Given the description of an element on the screen output the (x, y) to click on. 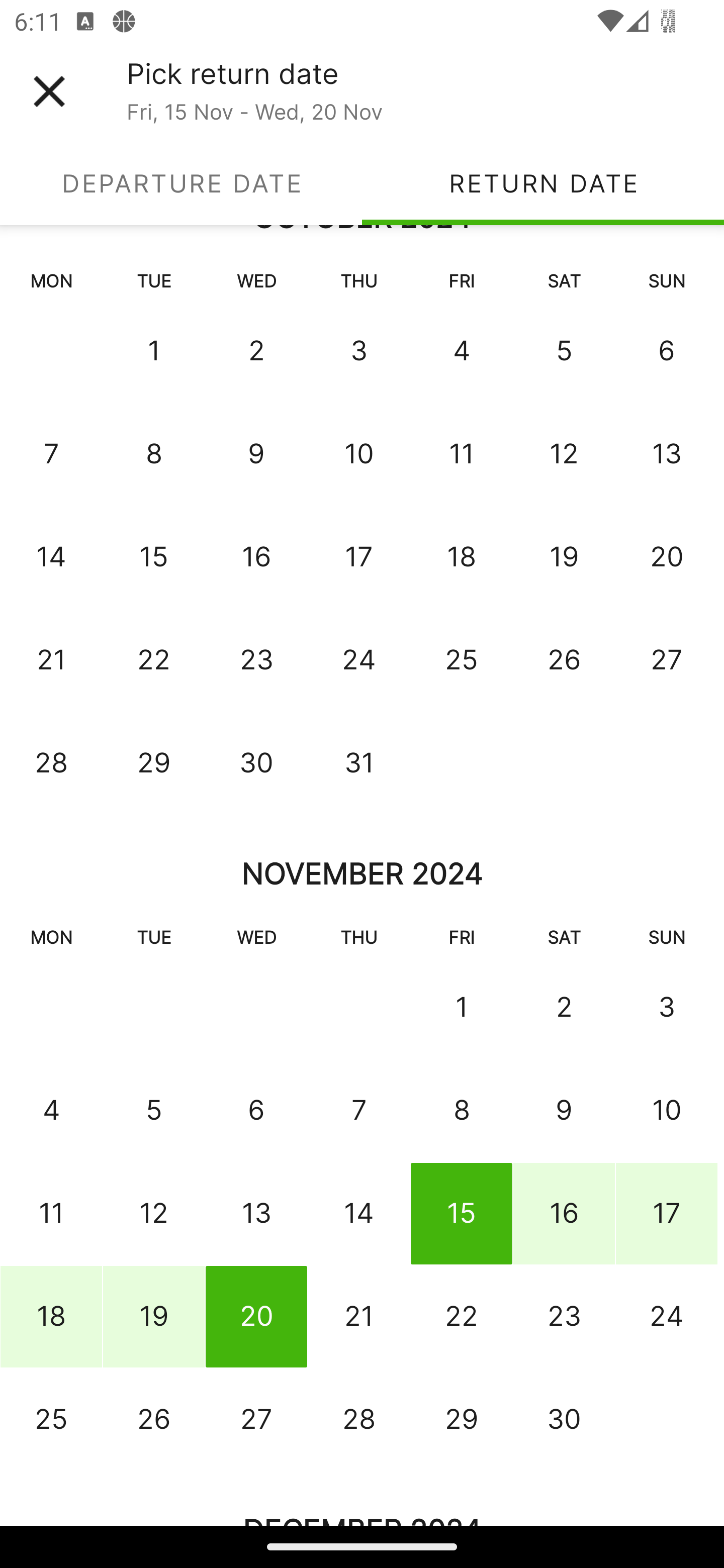
Departure Date DEPARTURE DATE (181, 183)
